Given the description of an element on the screen output the (x, y) to click on. 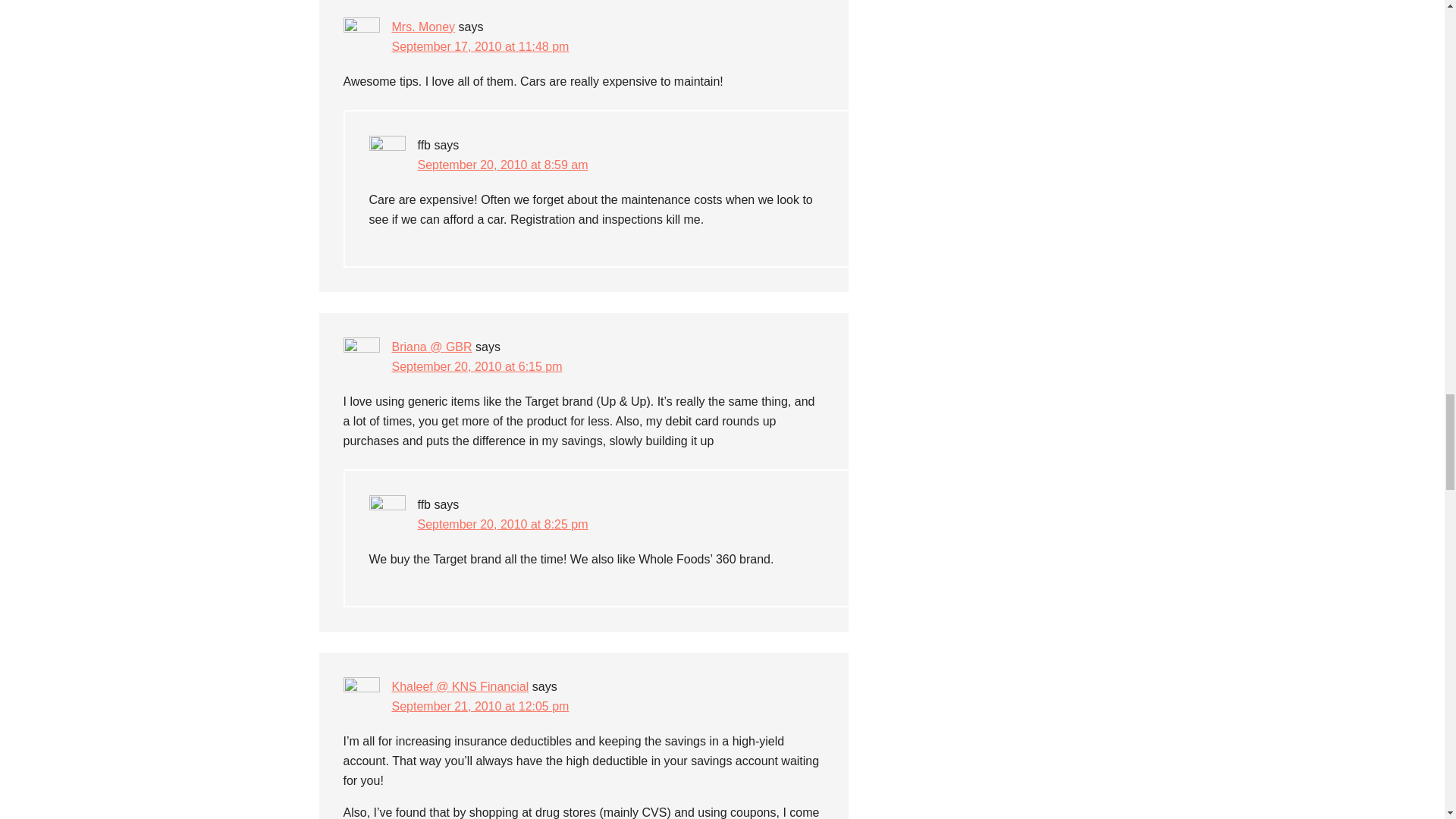
September 17, 2010 at 11:48 pm (480, 46)
Mrs. Money (422, 26)
